Given the description of an element on the screen output the (x, y) to click on. 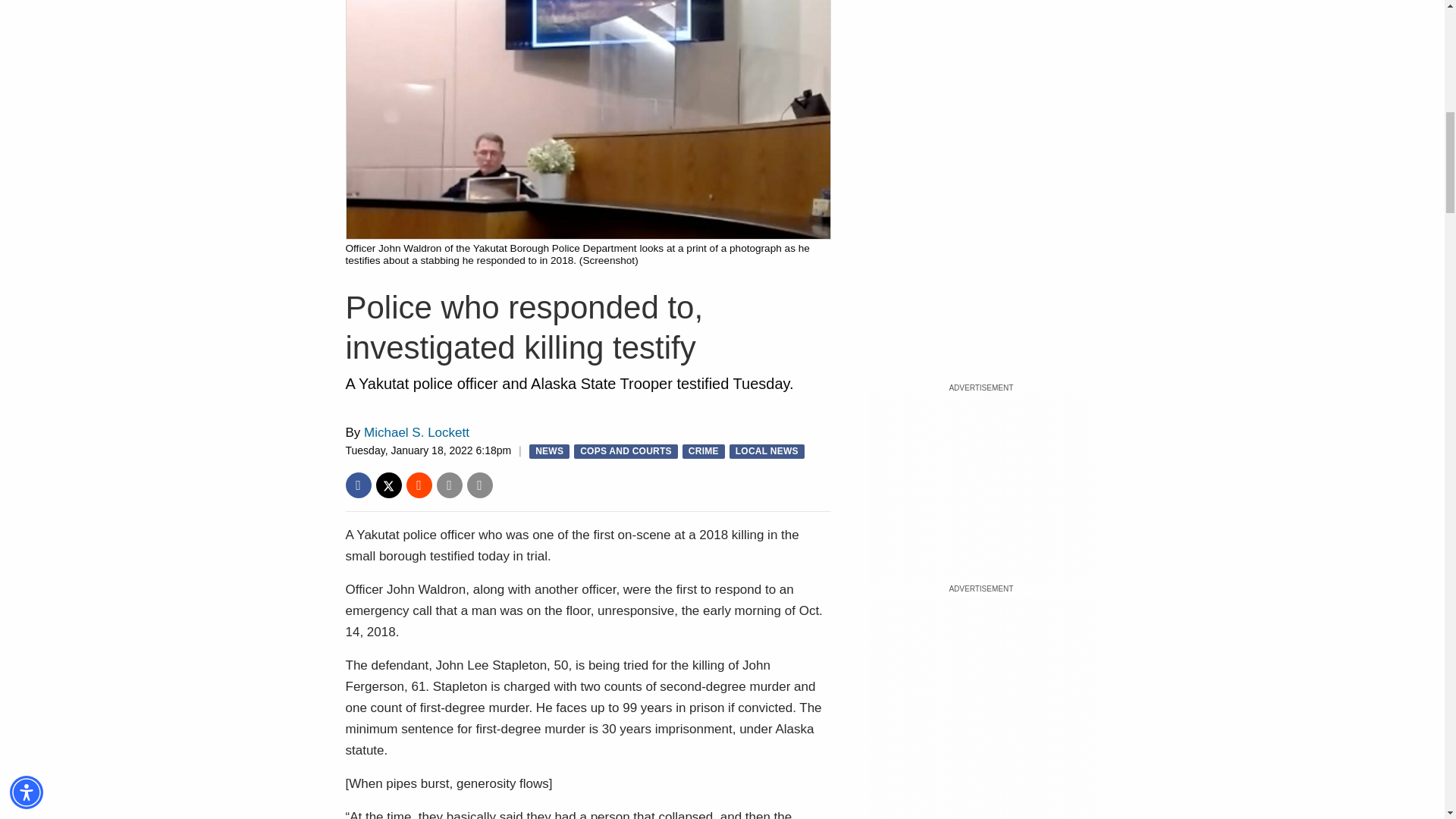
Post to Reddit (419, 484)
Print story (480, 484)
Email story (449, 484)
Post to Twitter (388, 484)
Post to Facebook (358, 484)
